Given the description of an element on the screen output the (x, y) to click on. 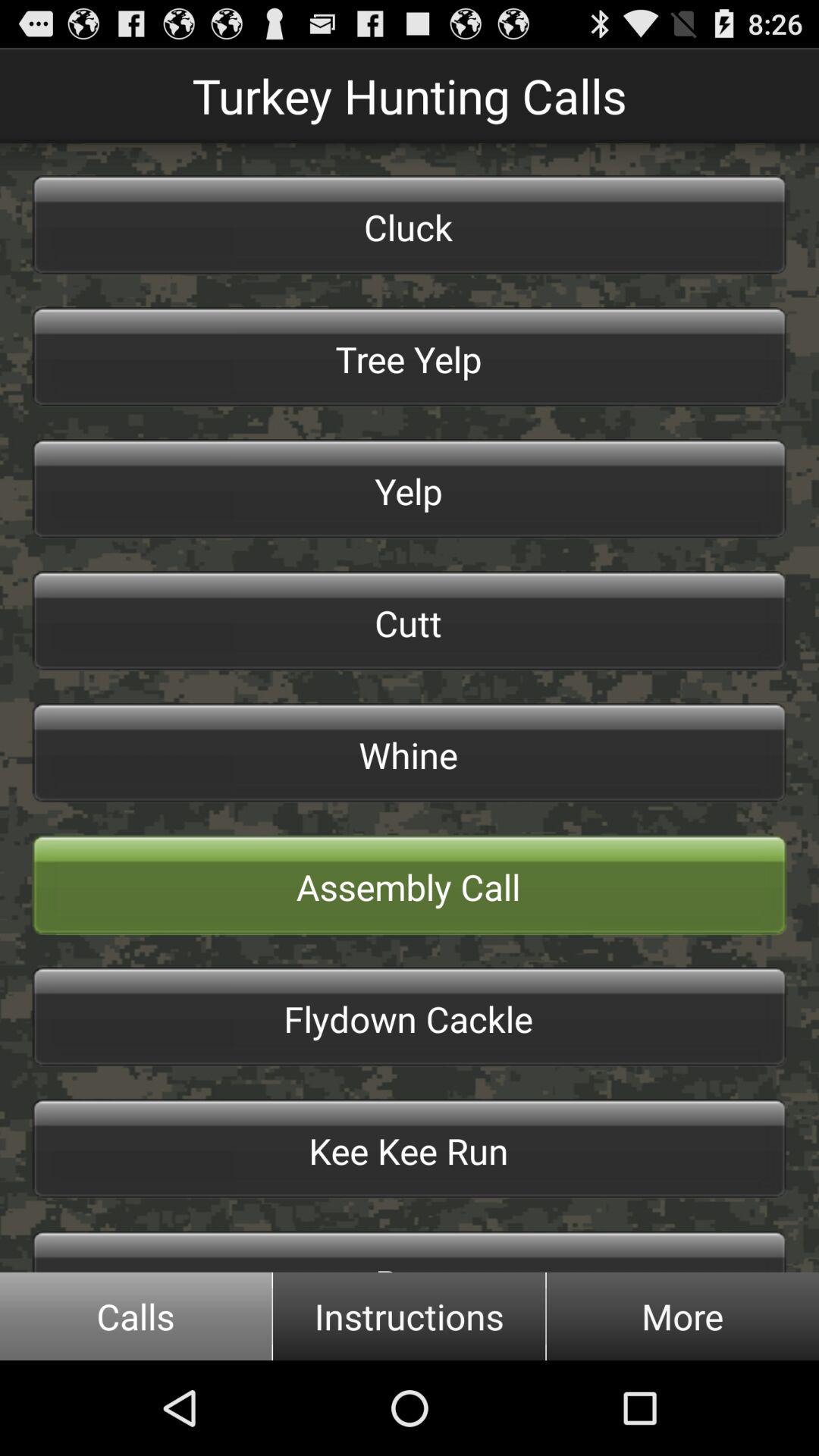
launch the button above the yelp item (409, 357)
